Given the description of an element on the screen output the (x, y) to click on. 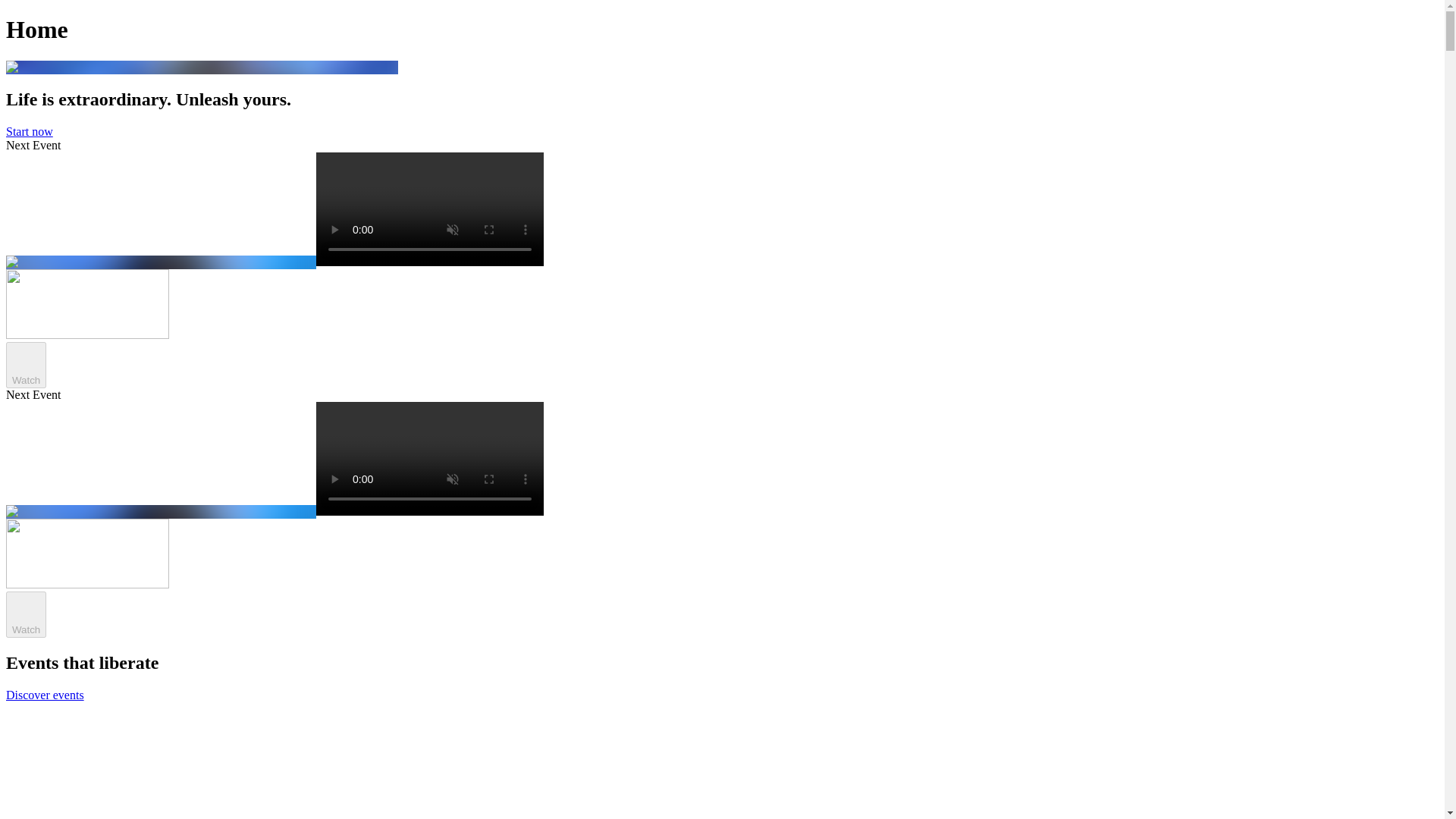
Play (25, 357)
Start now (28, 131)
Play (25, 607)
